Given the description of an element on the screen output the (x, y) to click on. 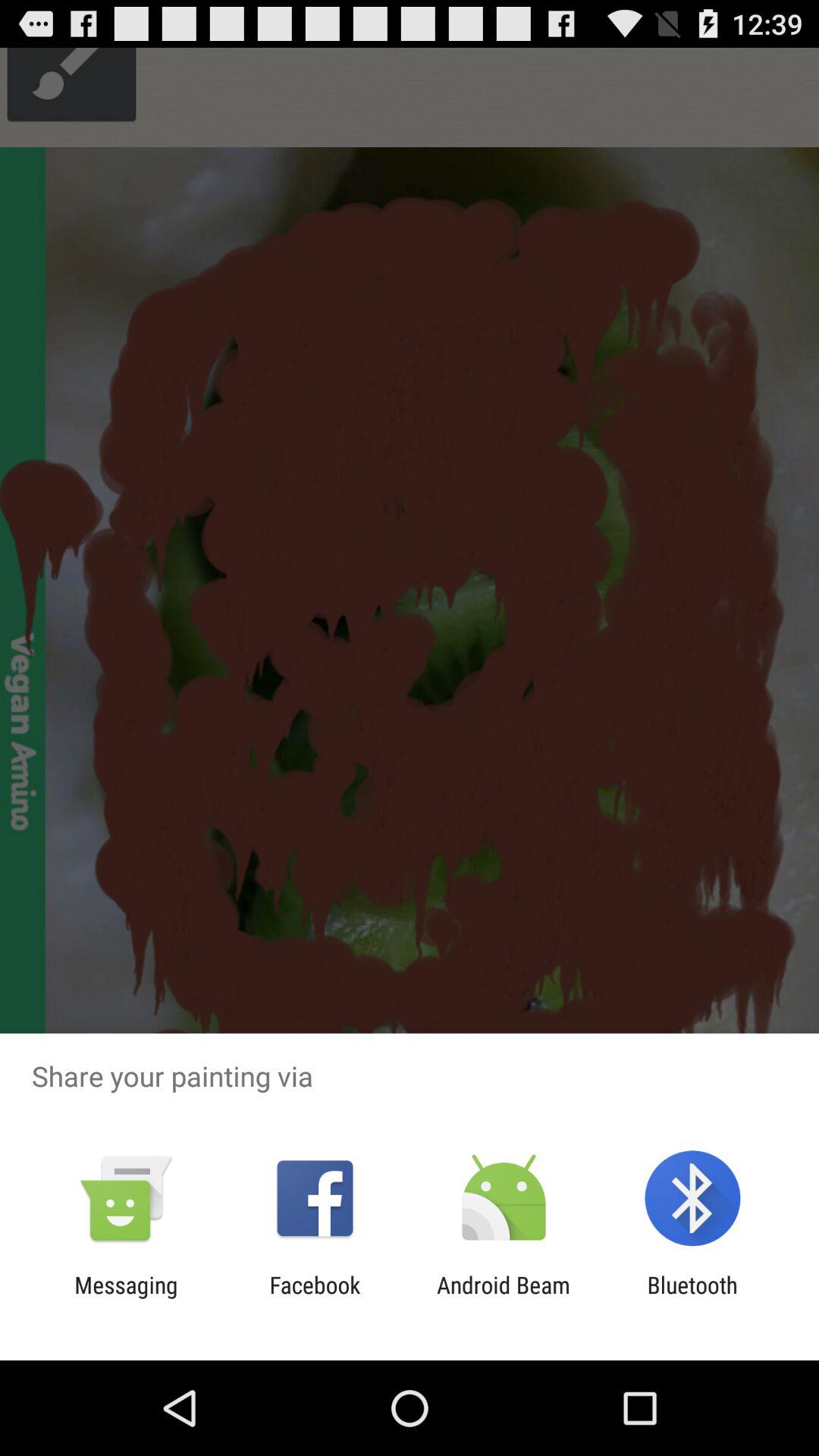
click icon next to the android beam (314, 1298)
